Given the description of an element on the screen output the (x, y) to click on. 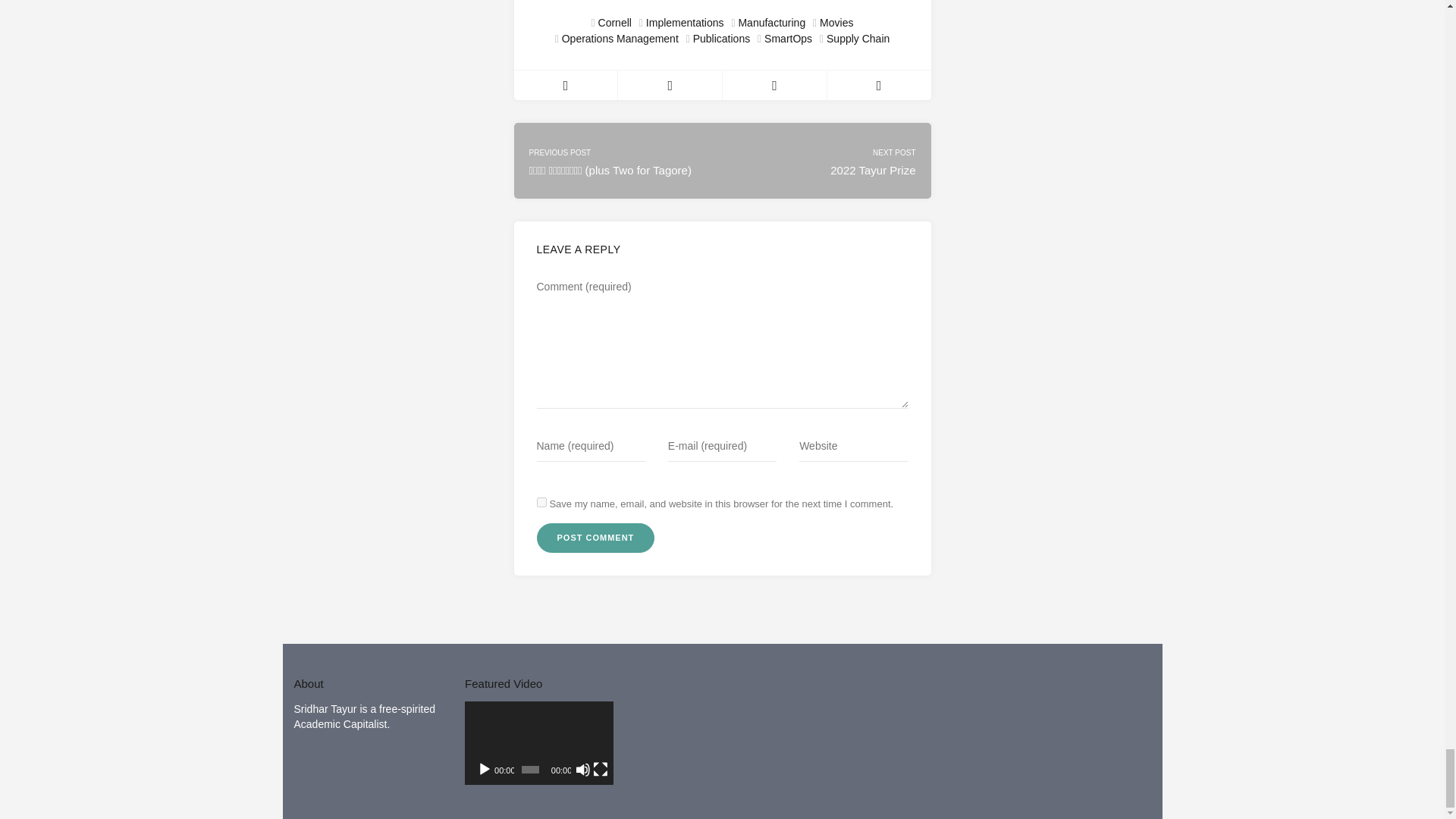
Post Comment (596, 537)
Fullscreen (600, 769)
Play (484, 769)
Mute (583, 769)
yes (542, 501)
